Given the description of an element on the screen output the (x, y) to click on. 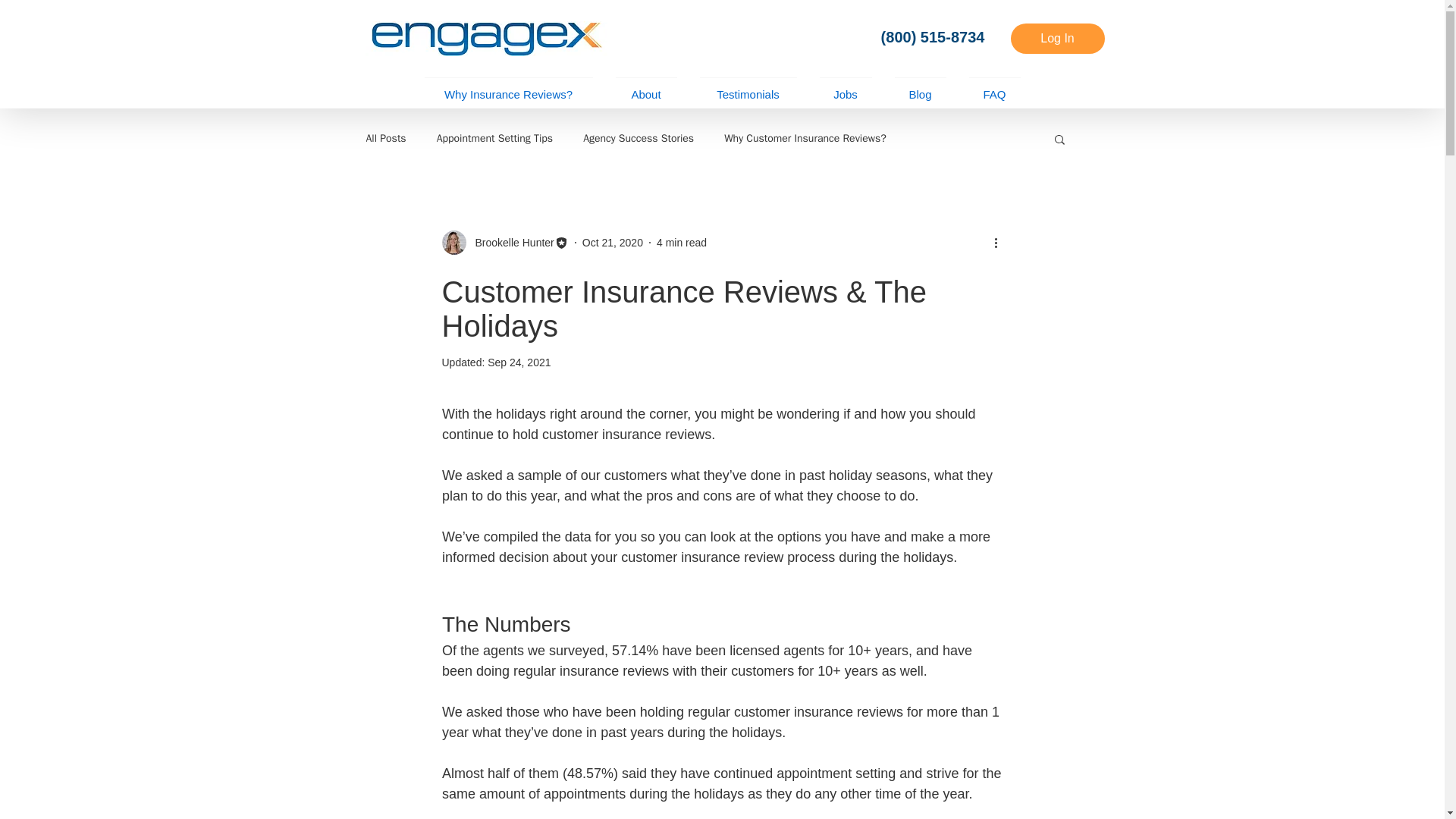
Log In (1056, 38)
Oct 21, 2020 (612, 242)
Appointment Setting Tips (494, 138)
Brookelle Hunter (504, 242)
4 min read (681, 242)
Jobs (845, 86)
FAQ (993, 86)
Sep 24, 2021 (518, 362)
All Posts (385, 138)
About (645, 86)
Why Insurance Reviews? (508, 86)
Blog (919, 86)
Why Customer Insurance Reviews? (804, 138)
Brookelle Hunter (509, 242)
Agency Success Stories (638, 138)
